Given the description of an element on the screen output the (x, y) to click on. 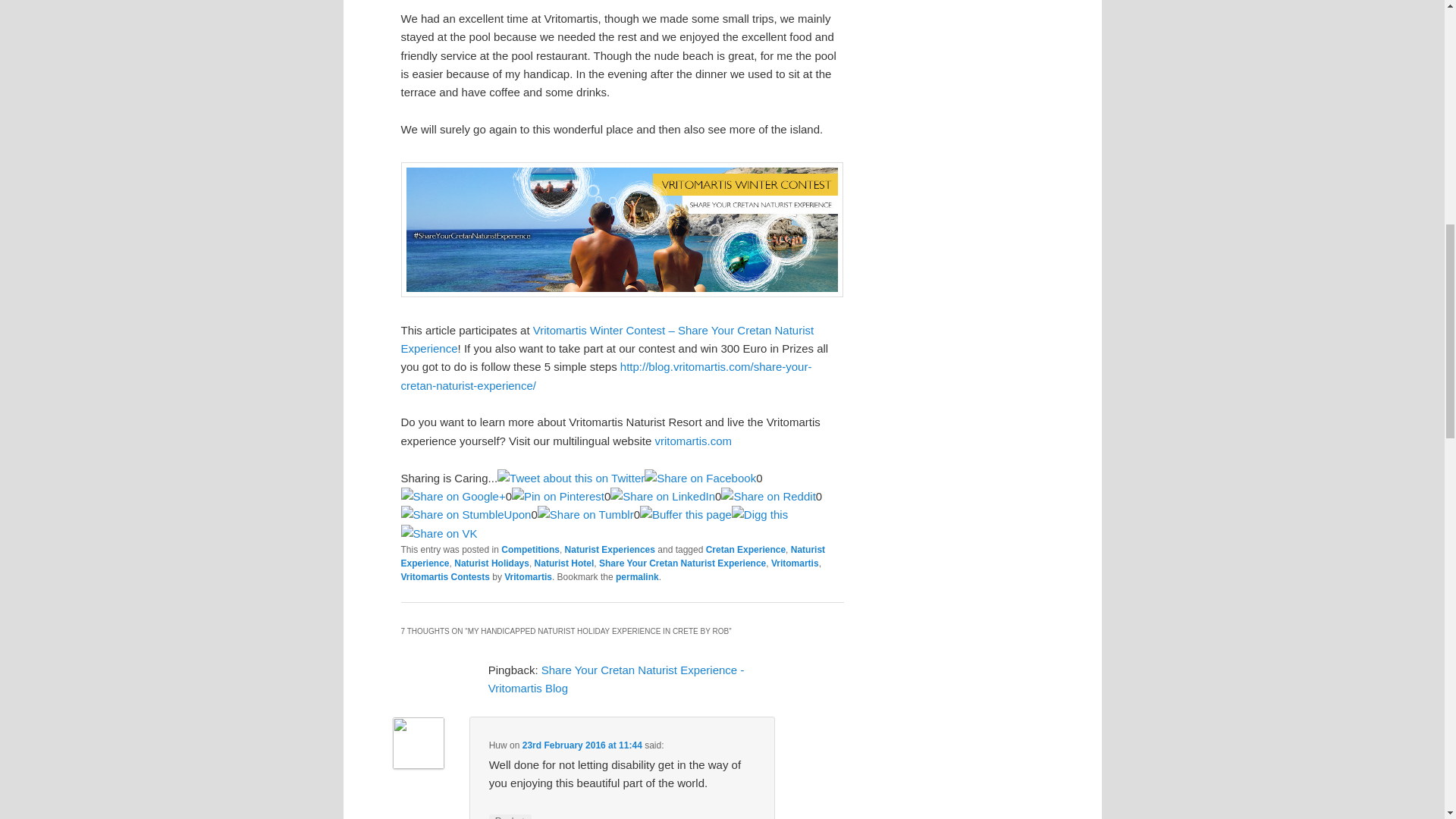
Naturist Experiences (609, 549)
permalink (637, 576)
Digg (759, 515)
LinkedIn (662, 496)
Vritomartis Contests (444, 576)
Vritomartis (527, 576)
Reddit (767, 496)
Facebook (700, 477)
Naturist Experience (612, 556)
StumbleUpon (465, 515)
Competitions (529, 549)
vritomartis.com (692, 440)
Pinterest (558, 496)
Twitter (571, 477)
Naturist Holidays (491, 562)
